Given the description of an element on the screen output the (x, y) to click on. 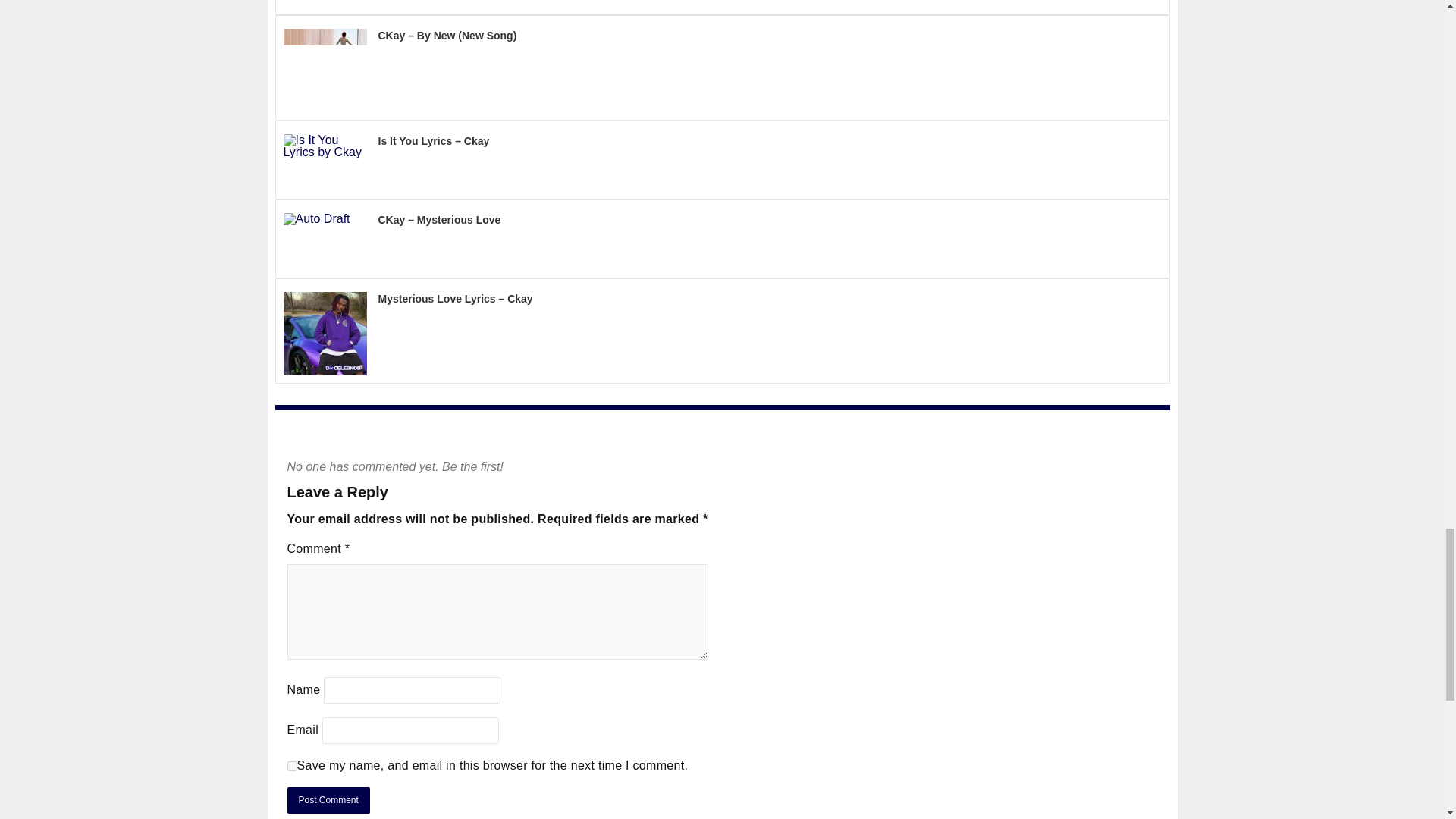
yes (291, 766)
Post Comment (327, 800)
